Given the description of an element on the screen output the (x, y) to click on. 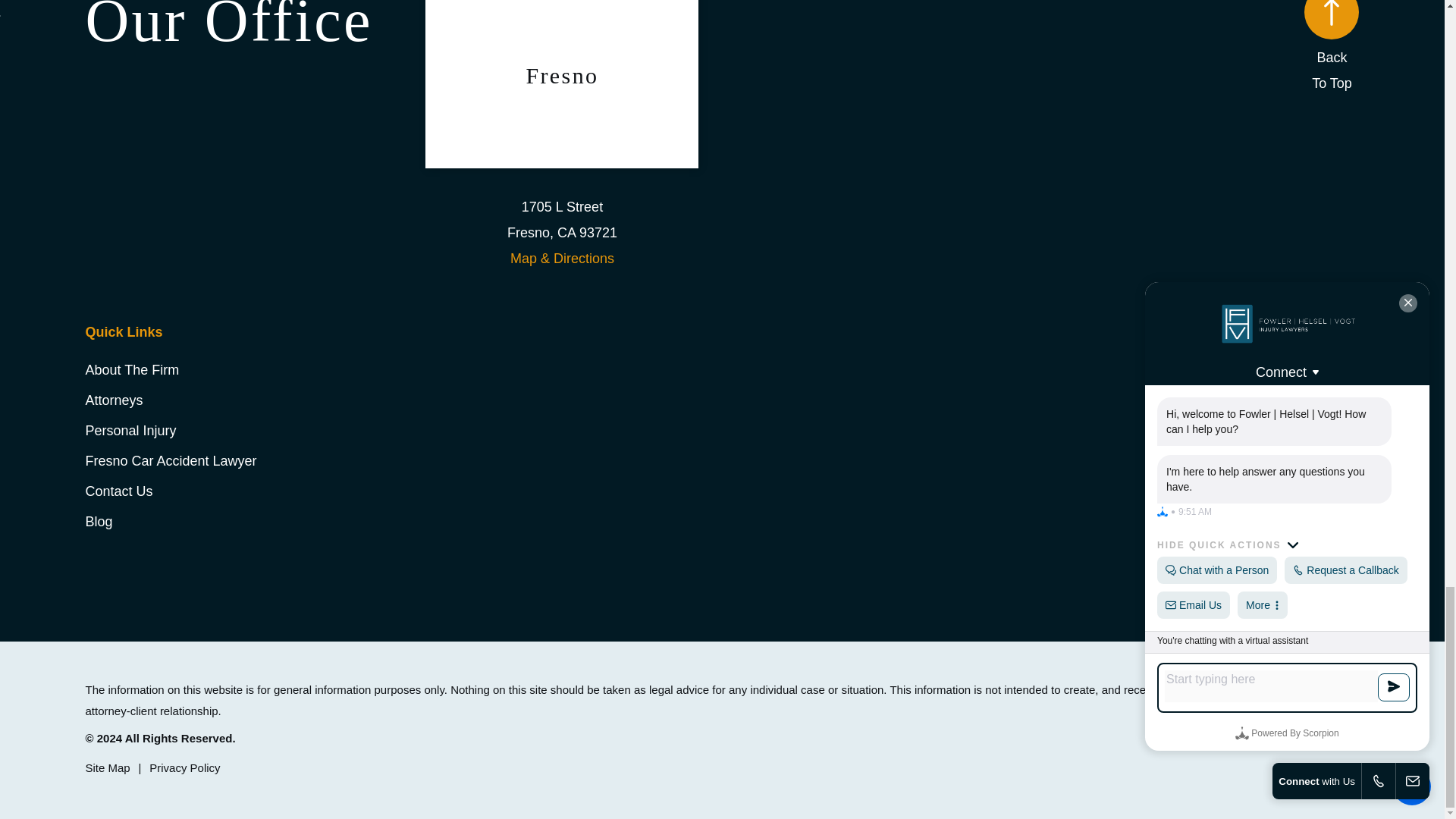
Facebook (1209, 465)
Twitter (1279, 465)
Yelp (1348, 465)
